Given the description of an element on the screen output the (x, y) to click on. 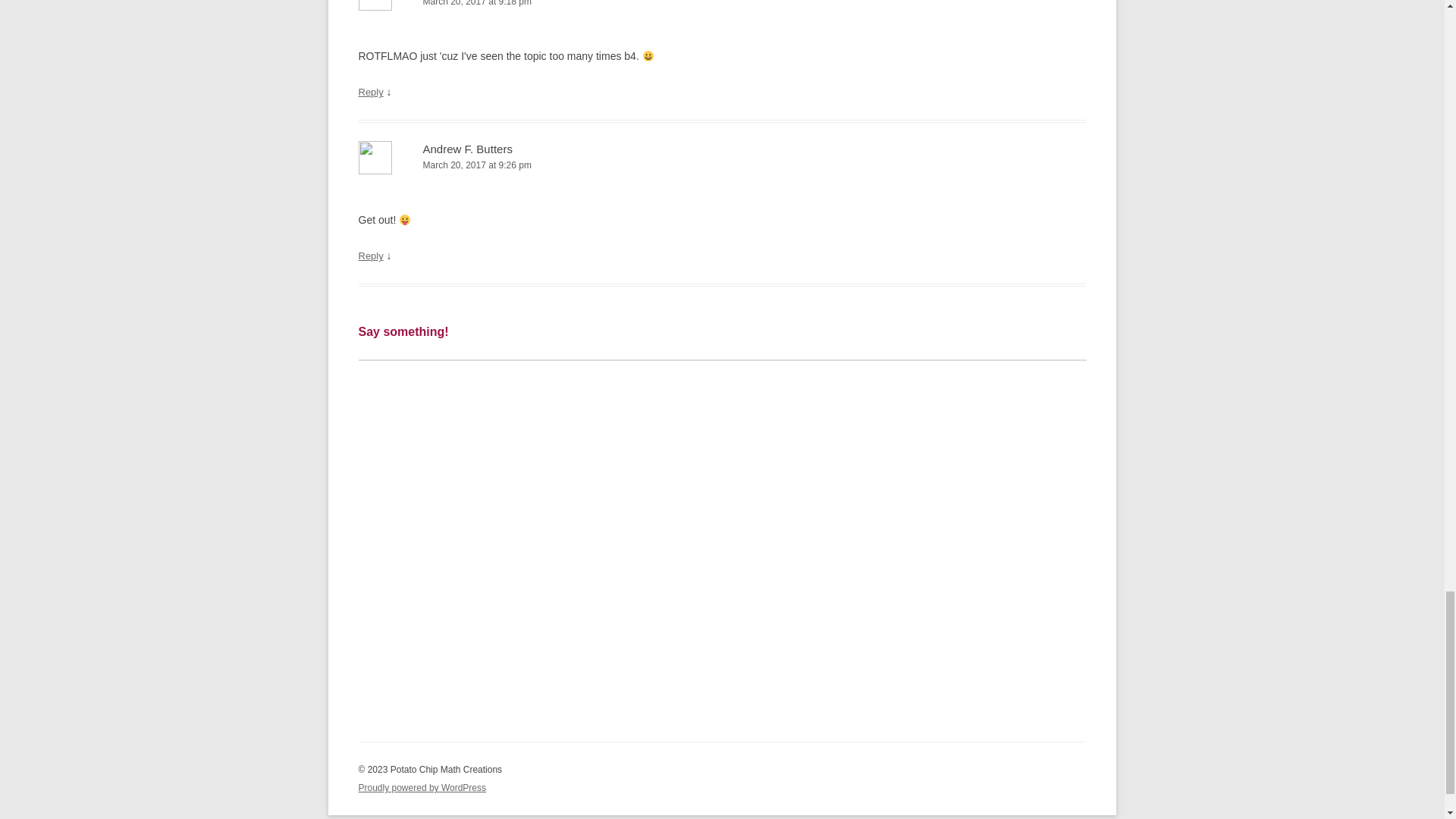
Semantic Personal Publishing Platform (422, 787)
